Given the description of an element on the screen output the (x, y) to click on. 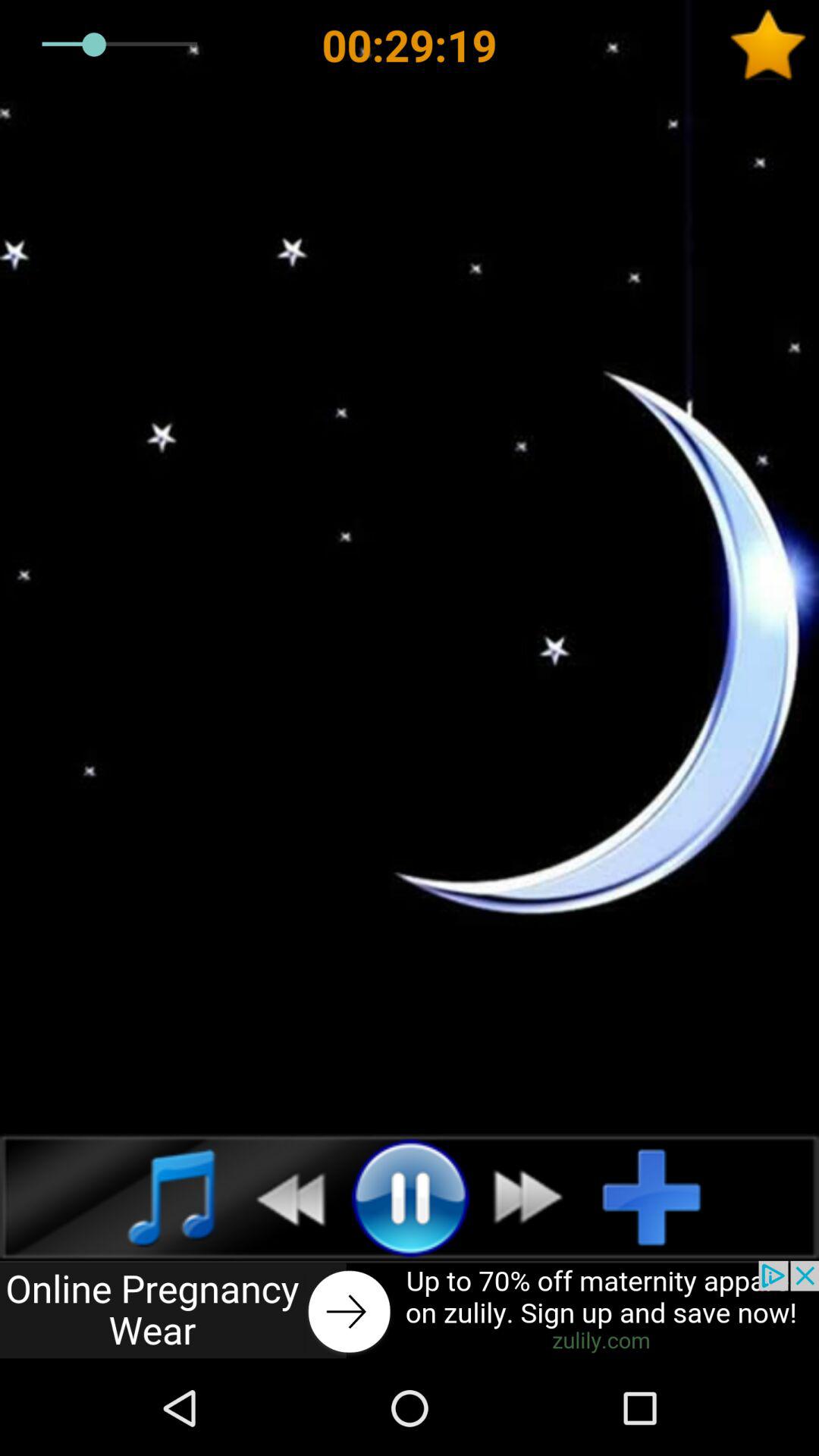
open music (154, 1196)
